Given the description of an element on the screen output the (x, y) to click on. 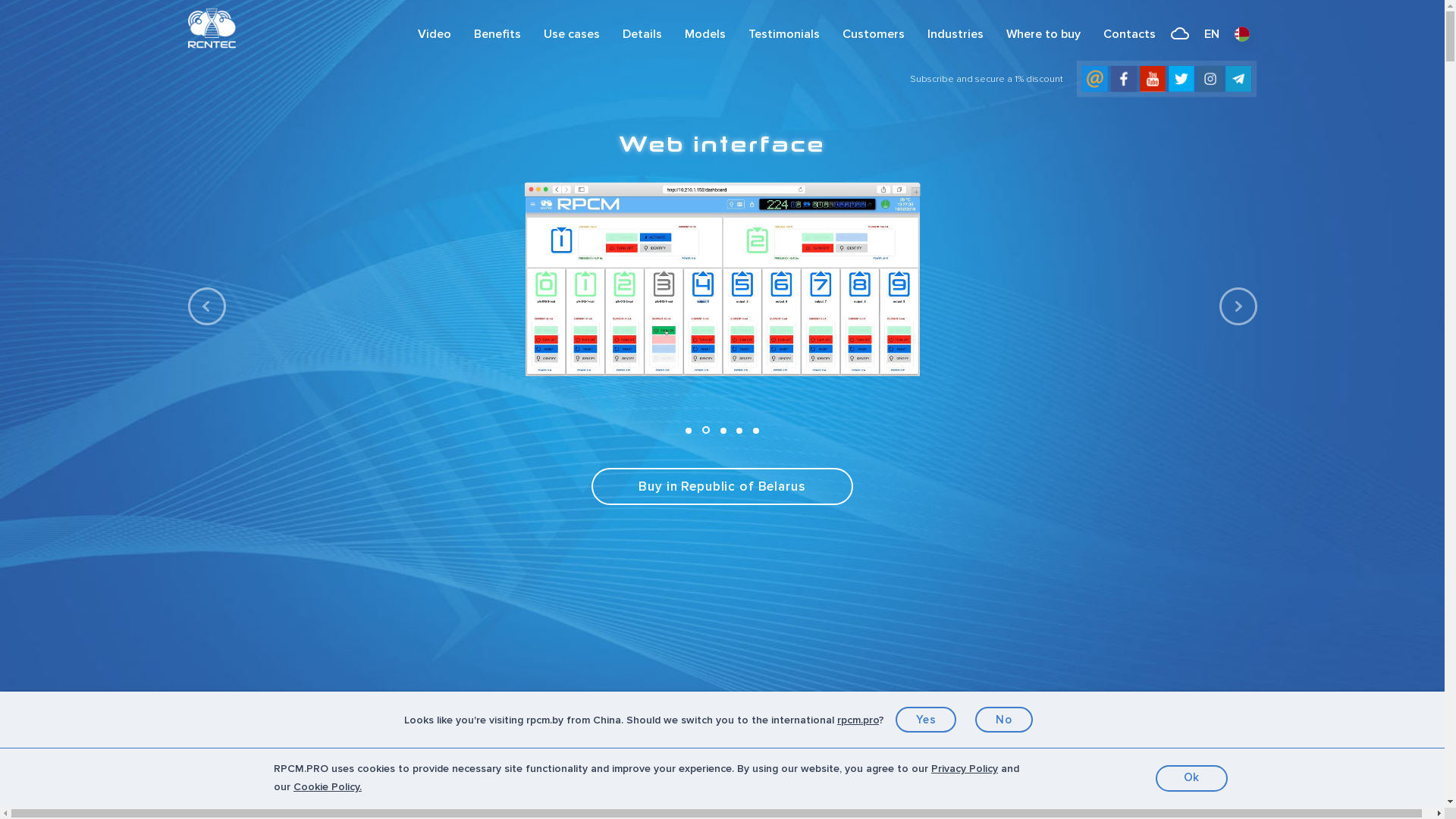
Contacts Element type: text (1129, 34)
Cookie Policy. Element type: text (327, 786)
Buy in Republic of Belarus Element type: text (721, 486)
Ok Element type: text (1191, 777)
Where to buy Element type: text (1043, 34)
Models Element type: text (705, 34)
Customers Element type: text (873, 34)
Yes Element type: text (926, 719)
Details Element type: text (642, 34)
Industries Element type: text (955, 34)
Benefits Element type: text (497, 34)
Use cases Element type: text (571, 34)
Privacy Policy Element type: text (964, 768)
Testimonials Element type: text (784, 34)
EN Element type: text (1211, 34)
Video Element type: text (434, 34)
cloud_queue Element type: text (1179, 35)
